Given the description of an element on the screen output the (x, y) to click on. 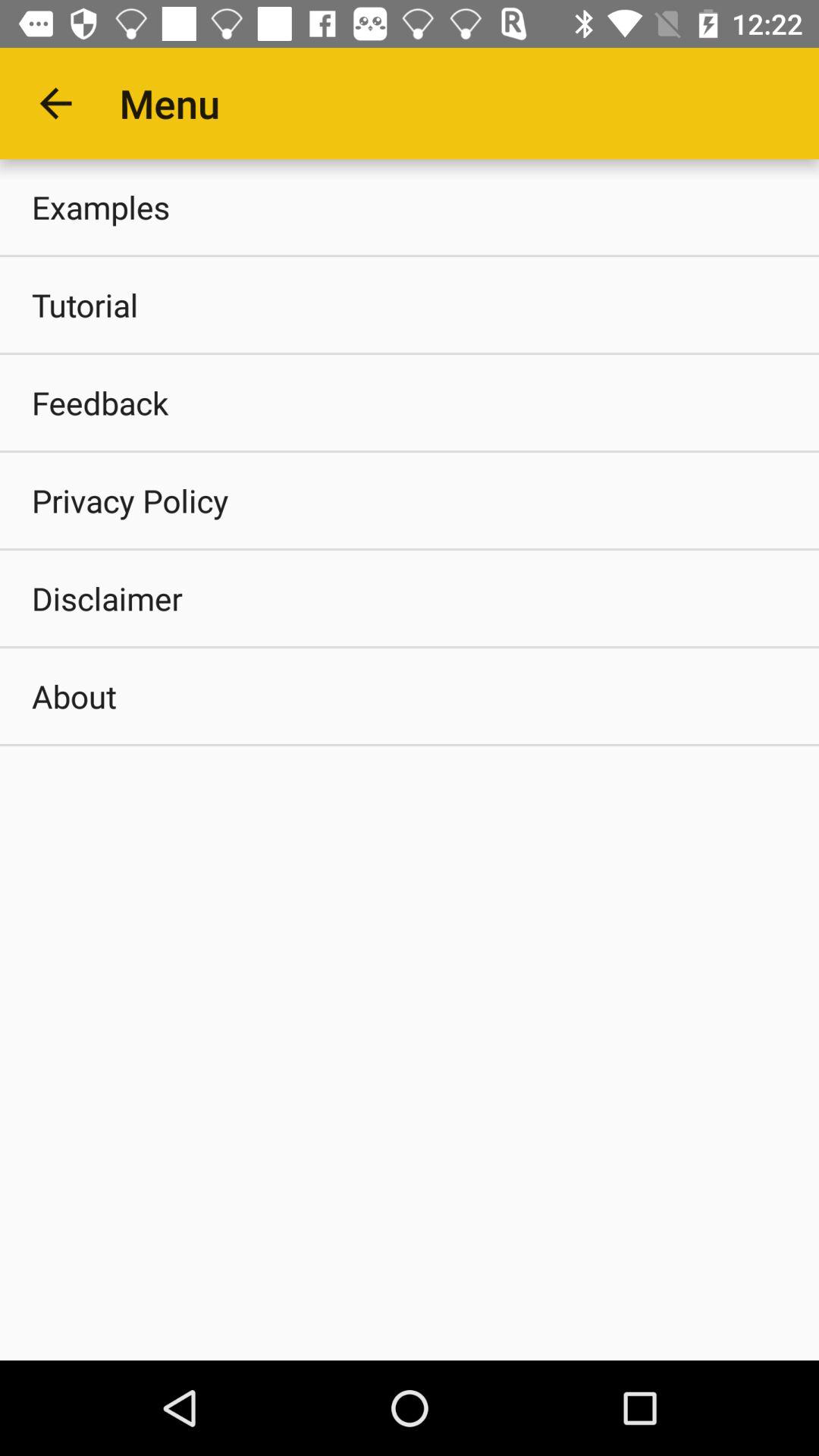
tap item above the privacy policy item (409, 402)
